Given the description of an element on the screen output the (x, y) to click on. 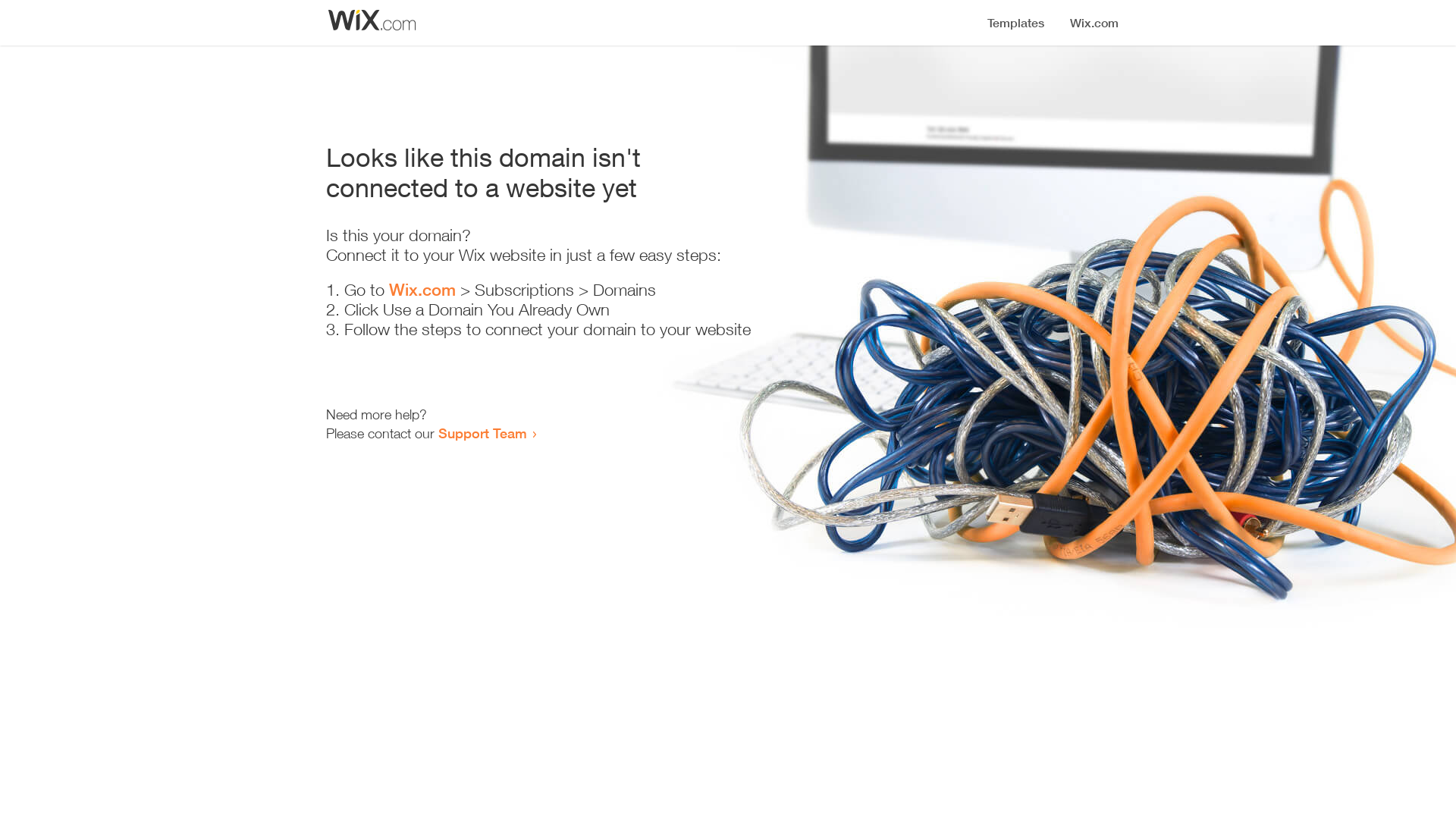
Support Team Element type: text (482, 432)
Wix.com Element type: text (422, 289)
